Given the description of an element on the screen output the (x, y) to click on. 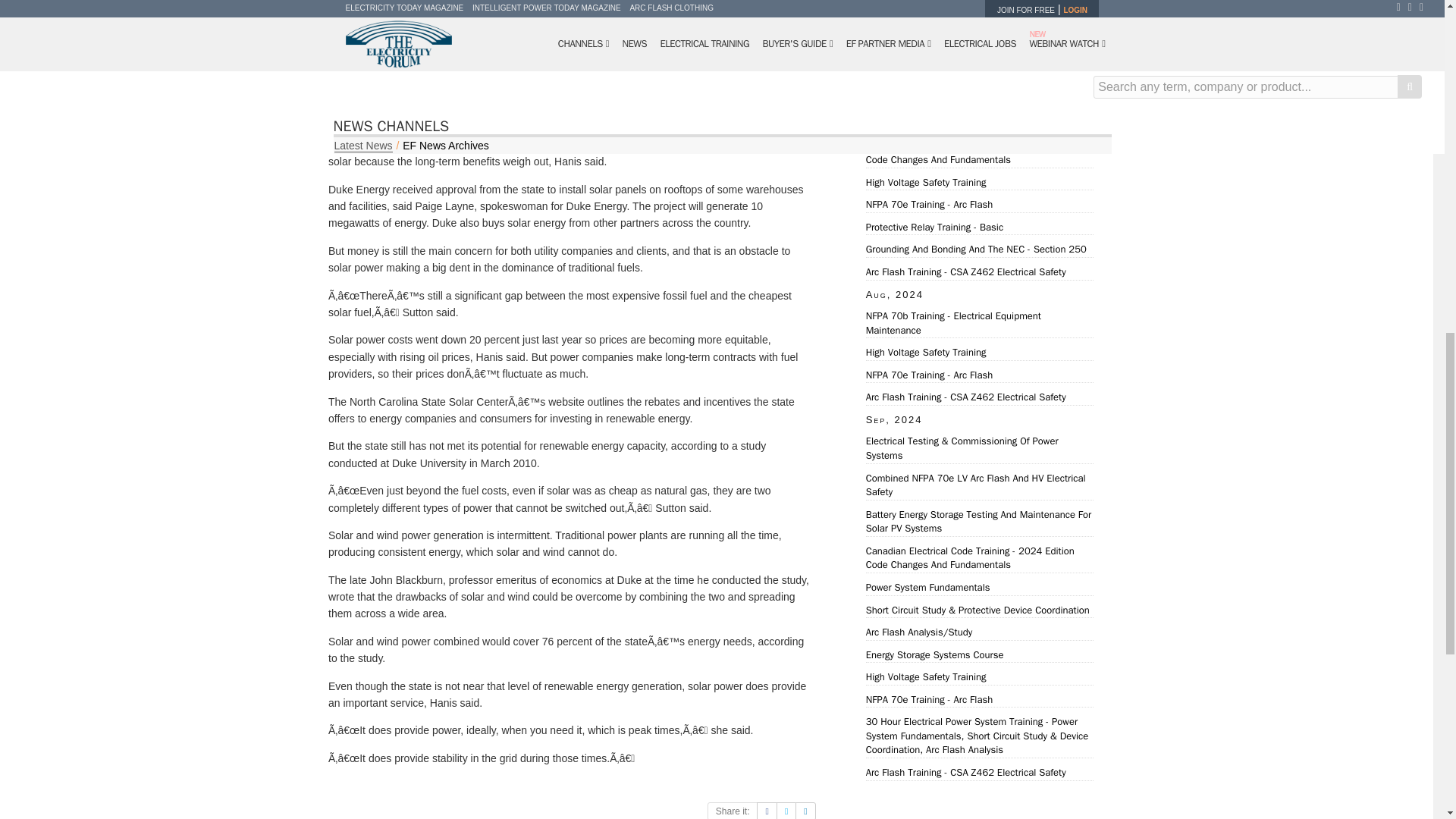
On Twitter (786, 810)
Share it: (732, 810)
On Facebook (766, 810)
On LinkedIn (804, 810)
